Given the description of an element on the screen output the (x, y) to click on. 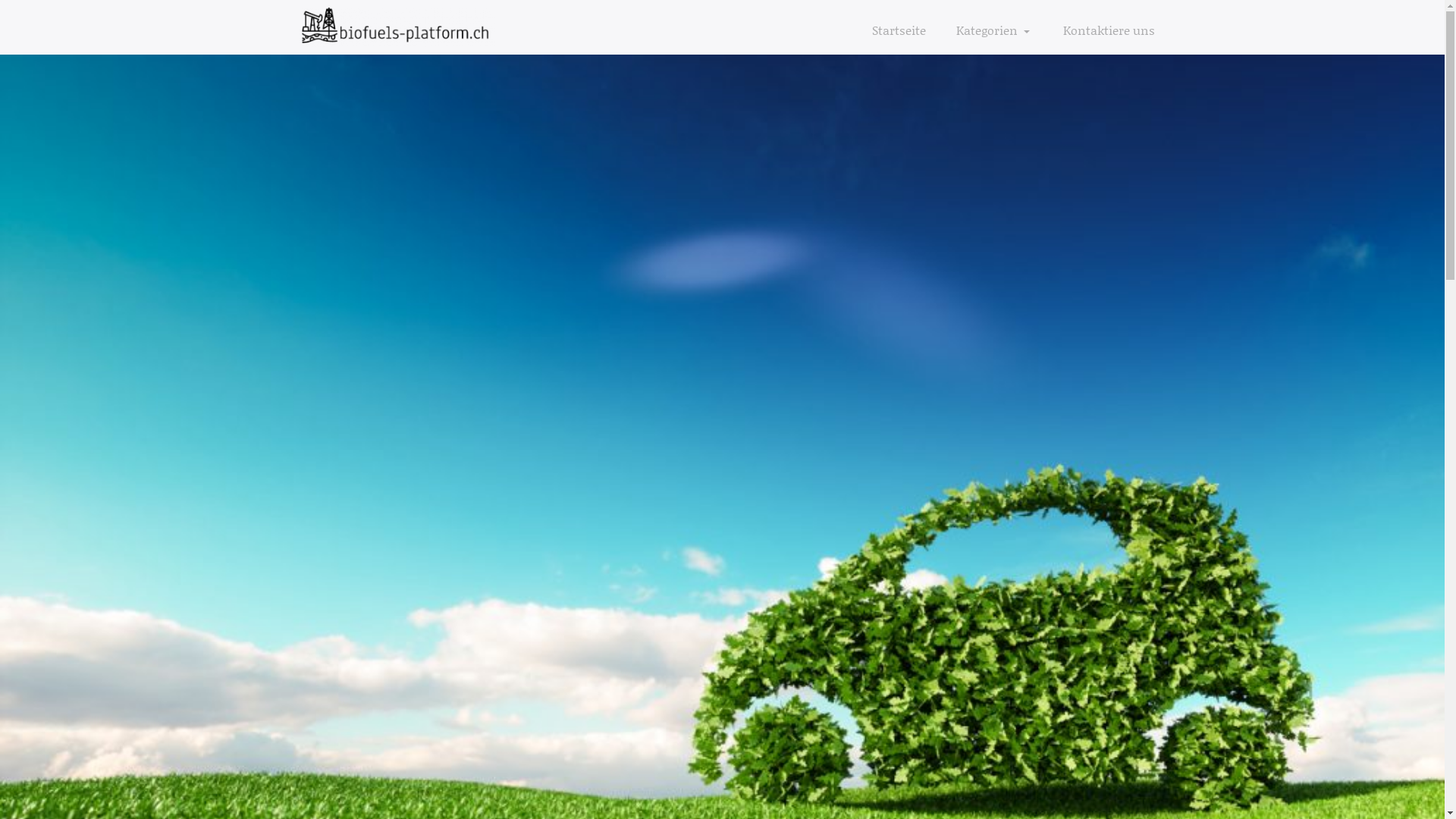
Startseite Element type: text (898, 30)
Kontaktiere uns Element type: text (1101, 30)
Kategorien Element type: text (993, 30)
Skip to content Element type: text (0, 0)
